Given the description of an element on the screen output the (x, y) to click on. 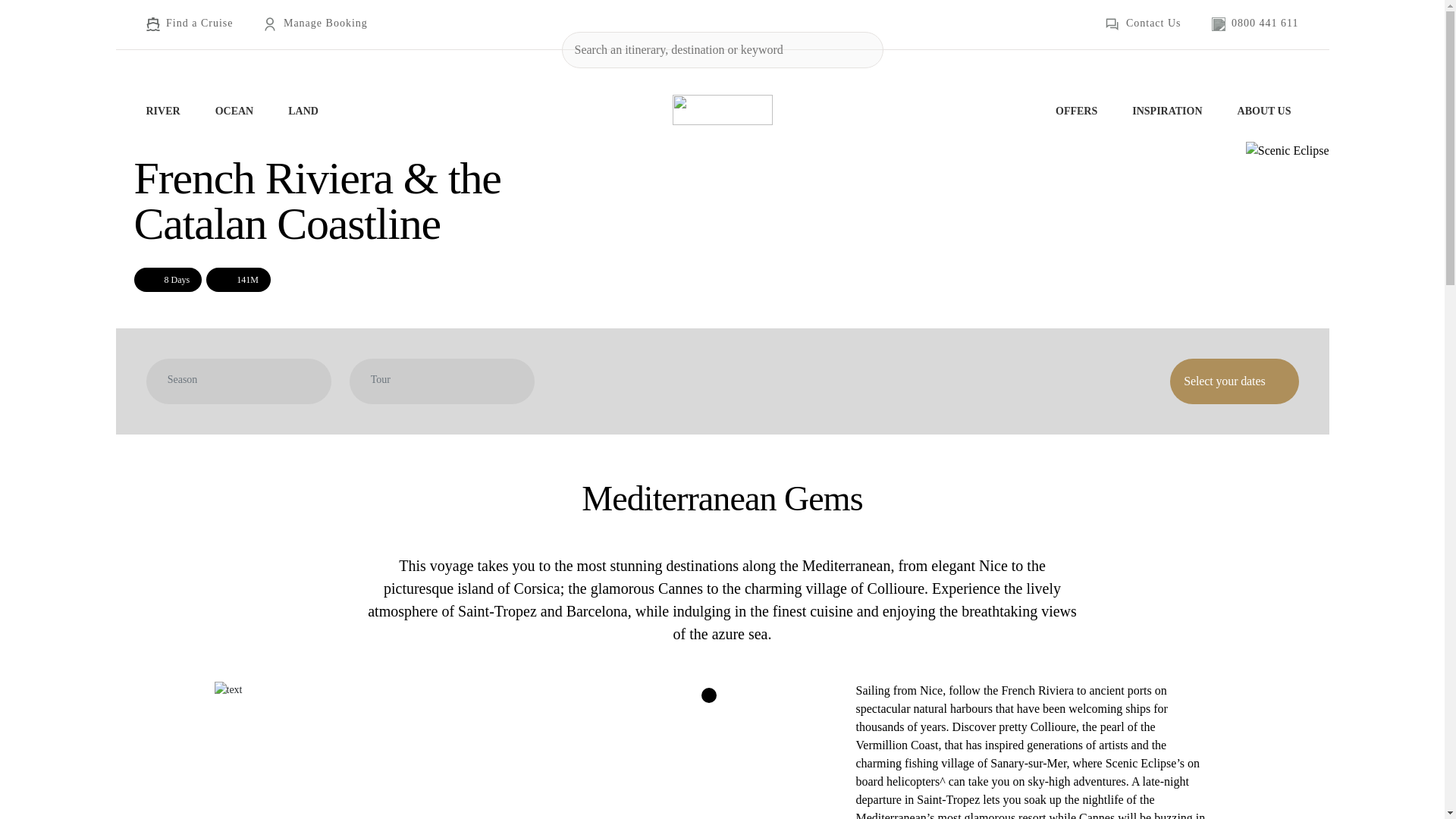
Manage Booking (314, 24)
Find a Cruise (188, 24)
Contact Us (1142, 24)
